Given the description of an element on the screen output the (x, y) to click on. 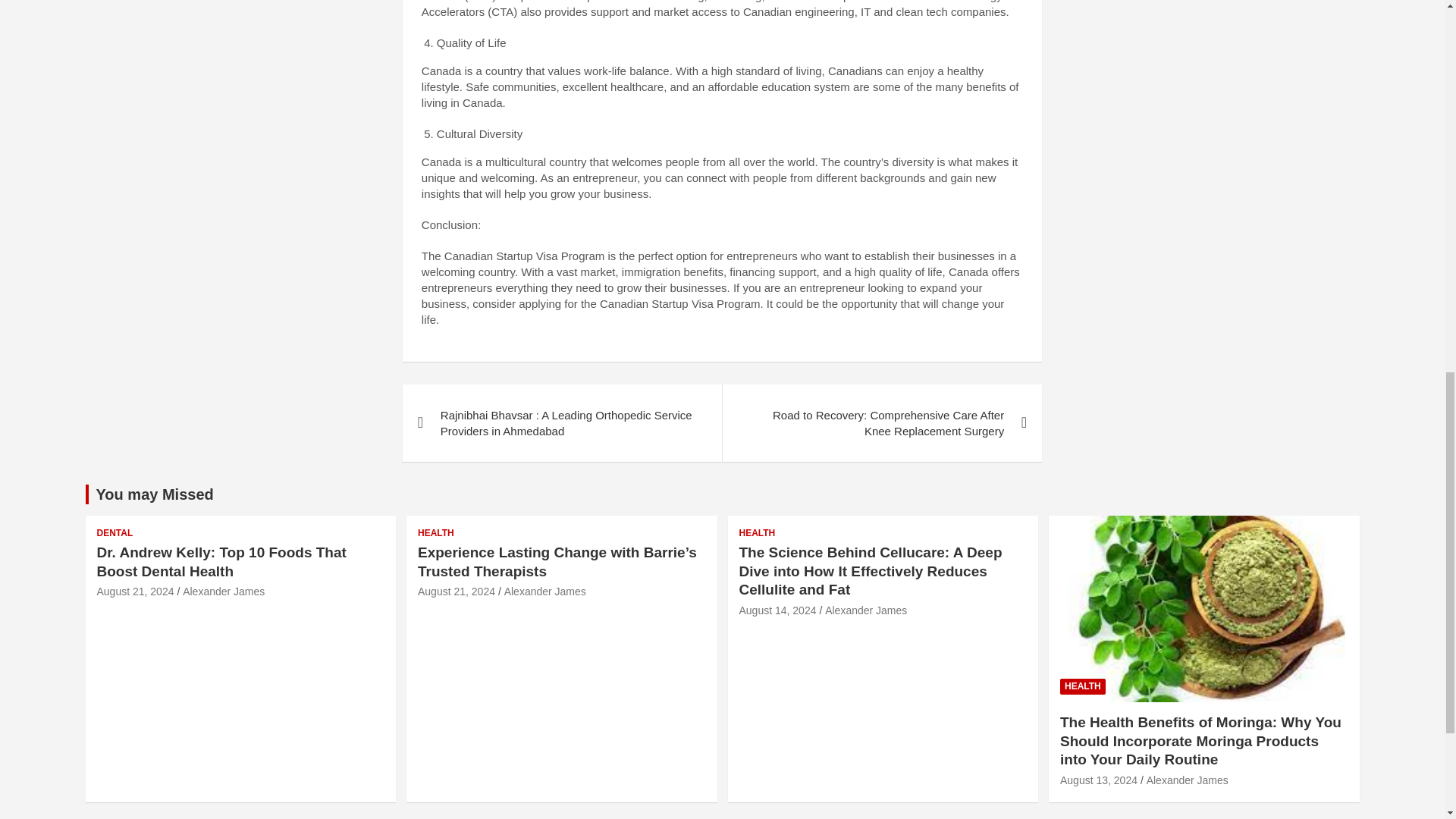
HEALTH (756, 533)
Dr. Andrew Kelly: Top 10 Foods That Boost Dental Health (221, 561)
August 14, 2024 (776, 610)
HEALTH (1082, 686)
You may Missed (154, 494)
August 13, 2024 (1098, 779)
Alexander James (1187, 779)
